Given the description of an element on the screen output the (x, y) to click on. 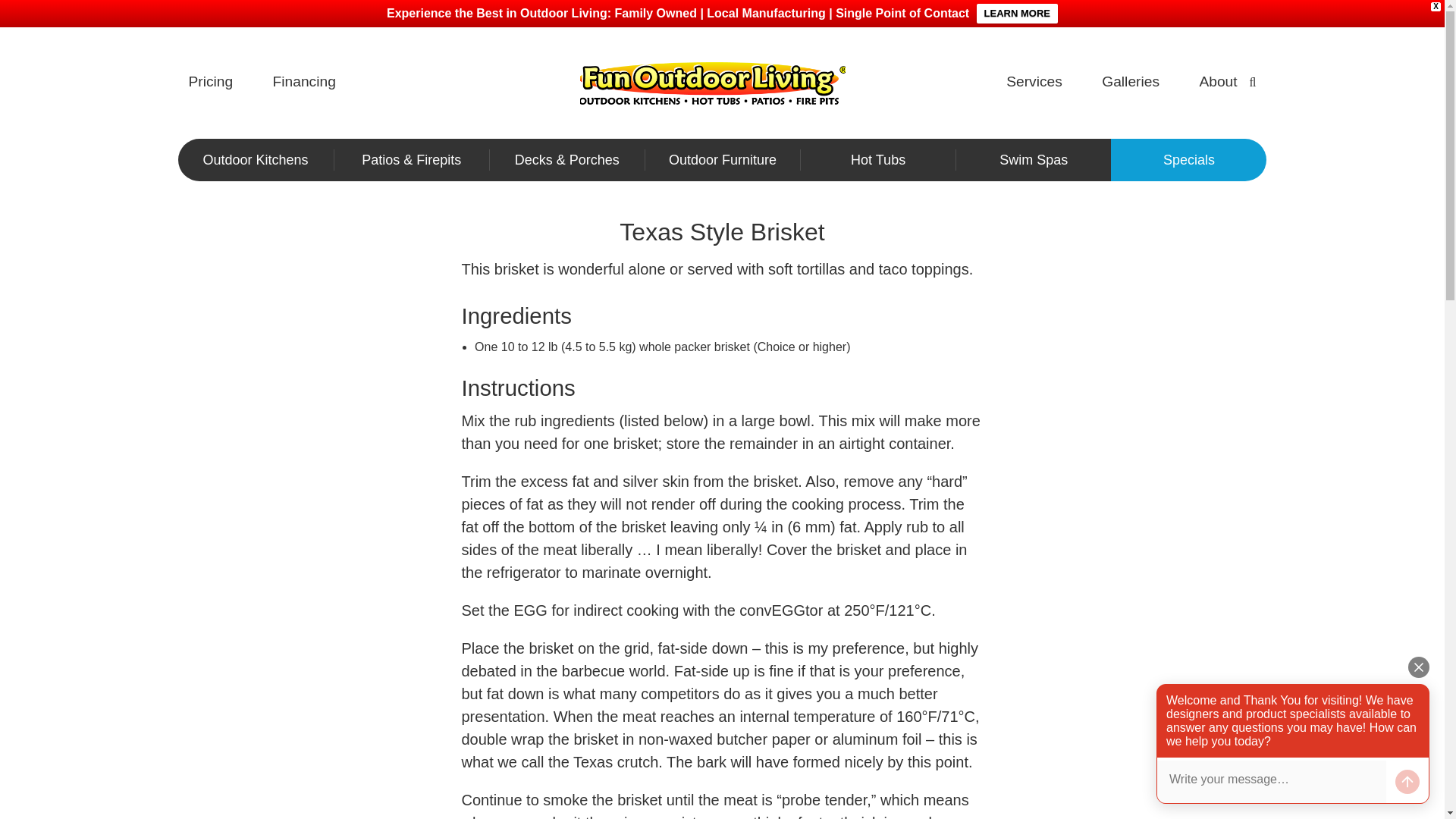
Services (1034, 85)
About (1217, 85)
Galleries (1130, 85)
Financing (304, 85)
Pricing (209, 85)
Outdoor Kitchens (255, 159)
LEARN MORE (1017, 13)
